Given the description of an element on the screen output the (x, y) to click on. 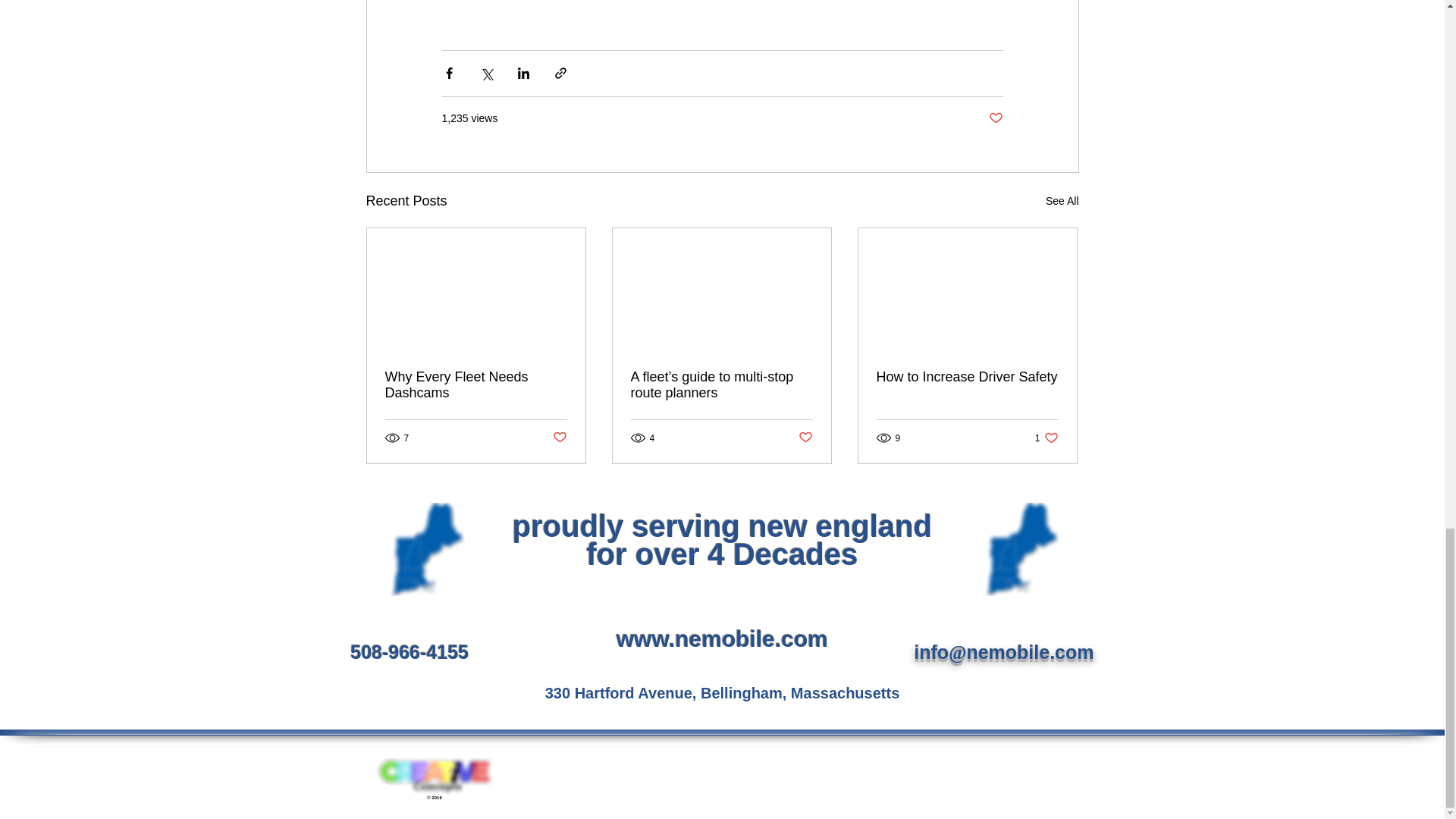
Why Every Fleet Needs Dashcams (476, 385)
See All (1061, 201)
Post not marked as liked (558, 437)
Post not marked as liked (995, 118)
